Given the description of an element on the screen output the (x, y) to click on. 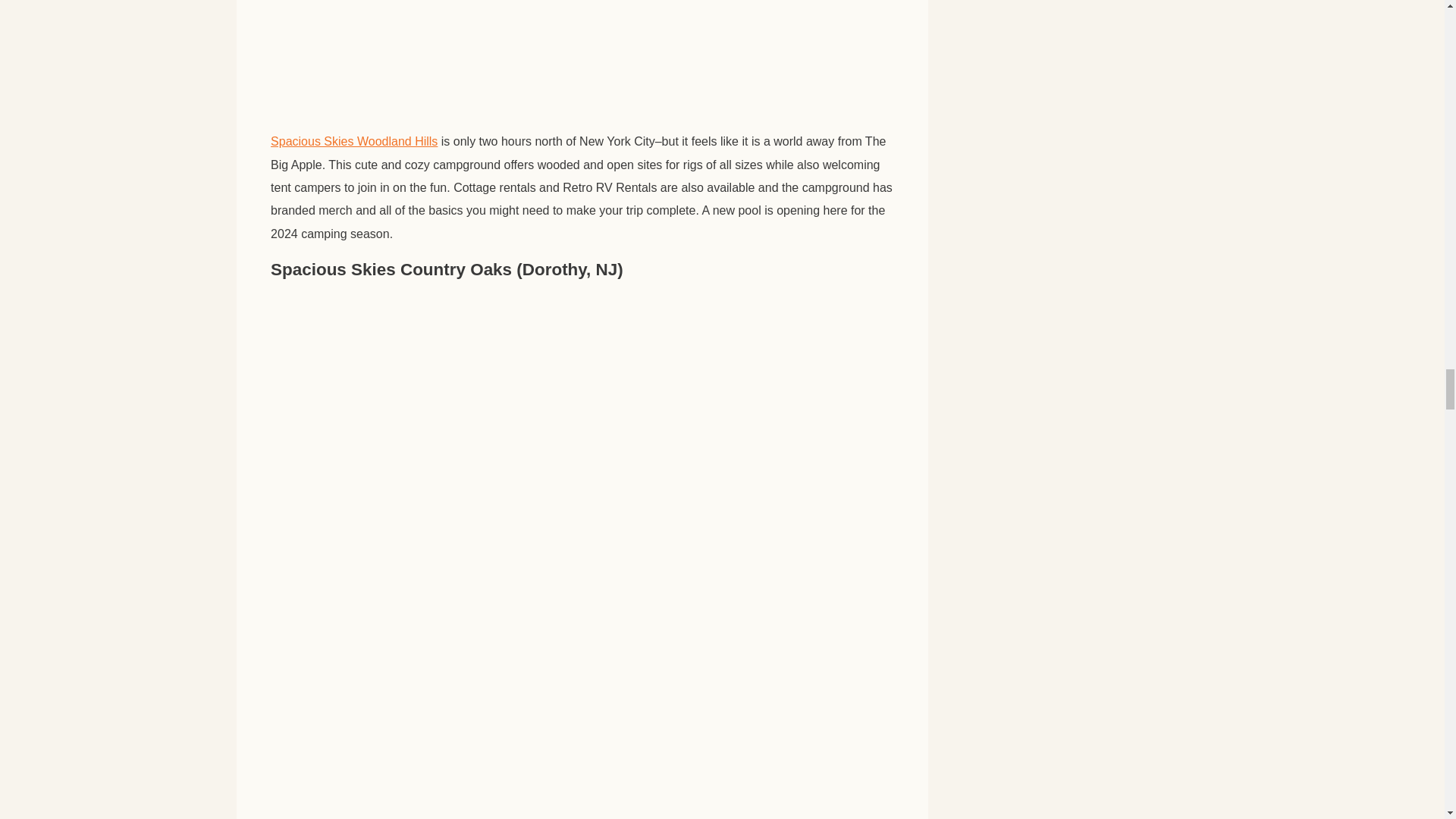
Spacious Skies Woodland Hills (354, 141)
